Given the description of an element on the screen output the (x, y) to click on. 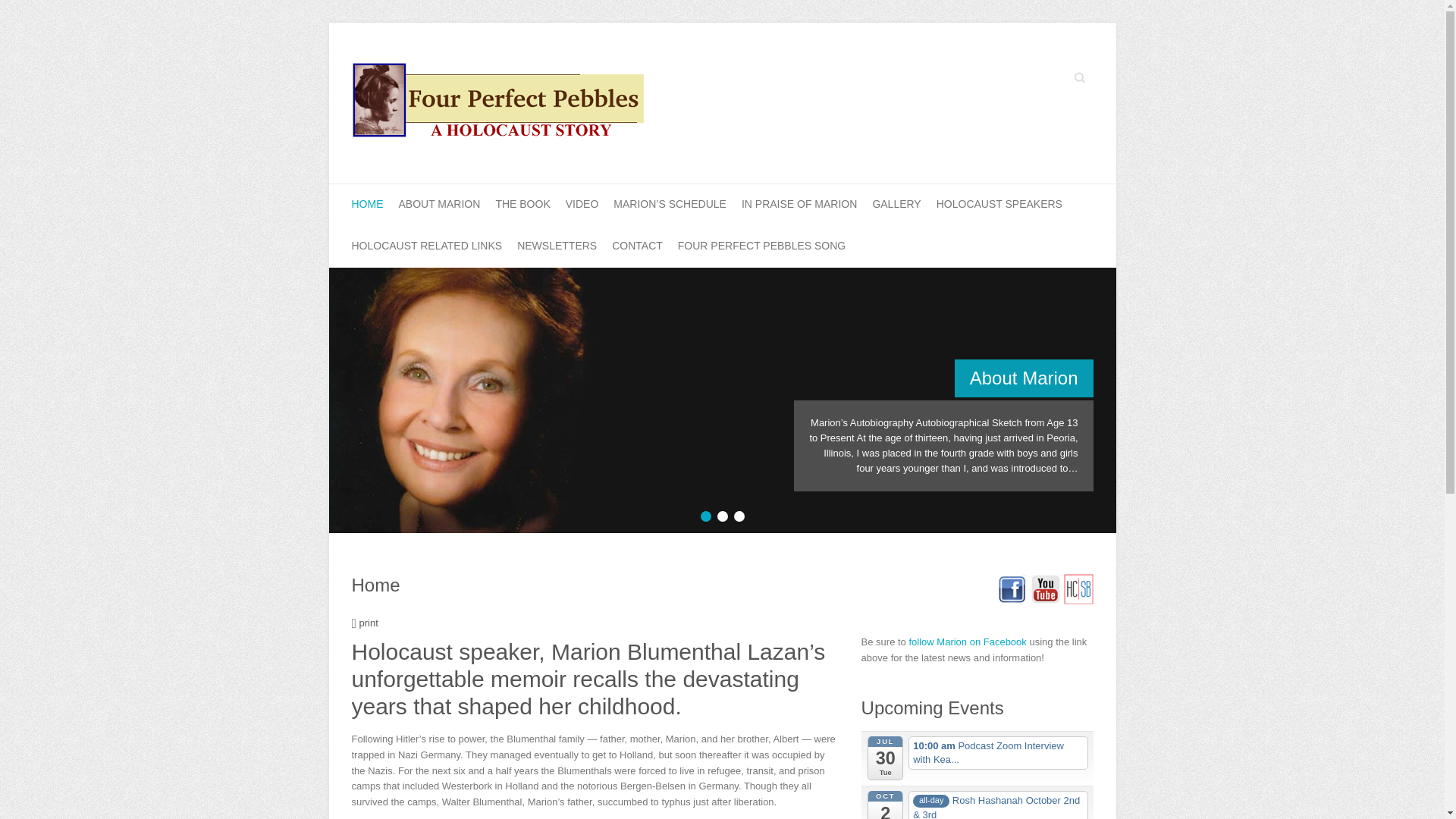
FOUR PERFECT PEBBLES SONG (761, 246)
HOLOCAUST SPEAKERS (999, 205)
About Marion (722, 274)
GALLERY (896, 205)
About Marion (1023, 377)
THE BOOK (522, 205)
IN PRAISE OF MARION (799, 205)
HOLOCAUST RELATED LINKS (427, 246)
Four Perfect Pebbles (503, 103)
CONTACT (636, 246)
NEWSLETTERS (556, 246)
ABOUT MARION (439, 205)
About Marion (1023, 377)
